Given the description of an element on the screen output the (x, y) to click on. 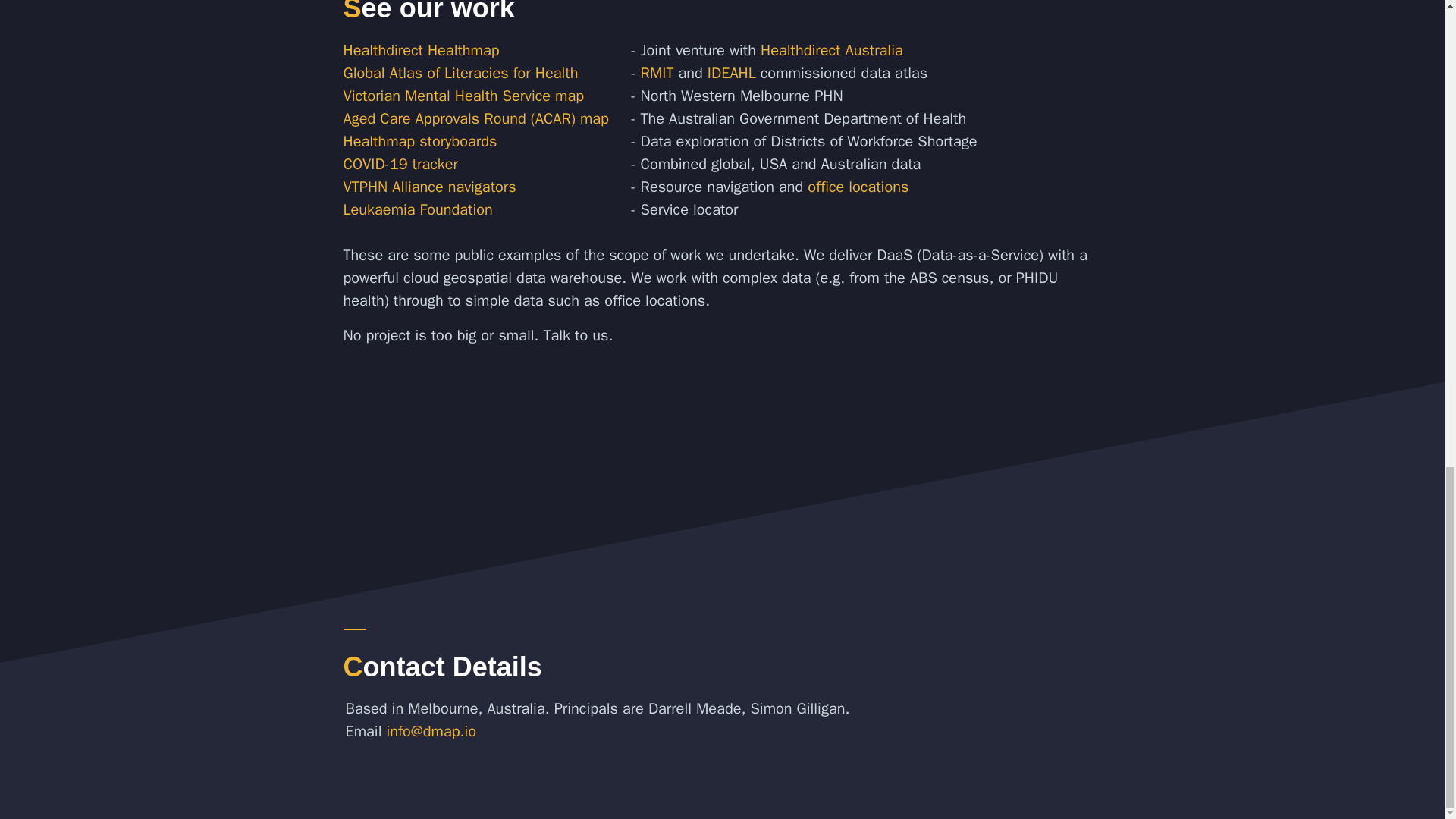
RMIT (656, 72)
Healthdirect Healthmap (420, 49)
Victorian Mental Health Service map (462, 95)
Healthmap storyboards (419, 140)
COVID-19 tracker (399, 163)
Global Atlas of Literacies for Health (460, 72)
Healthdirect Australia (831, 49)
VTPHN Alliance navigators (428, 186)
Leukaemia Foundation (417, 209)
office locations (858, 186)
